Given the description of an element on the screen output the (x, y) to click on. 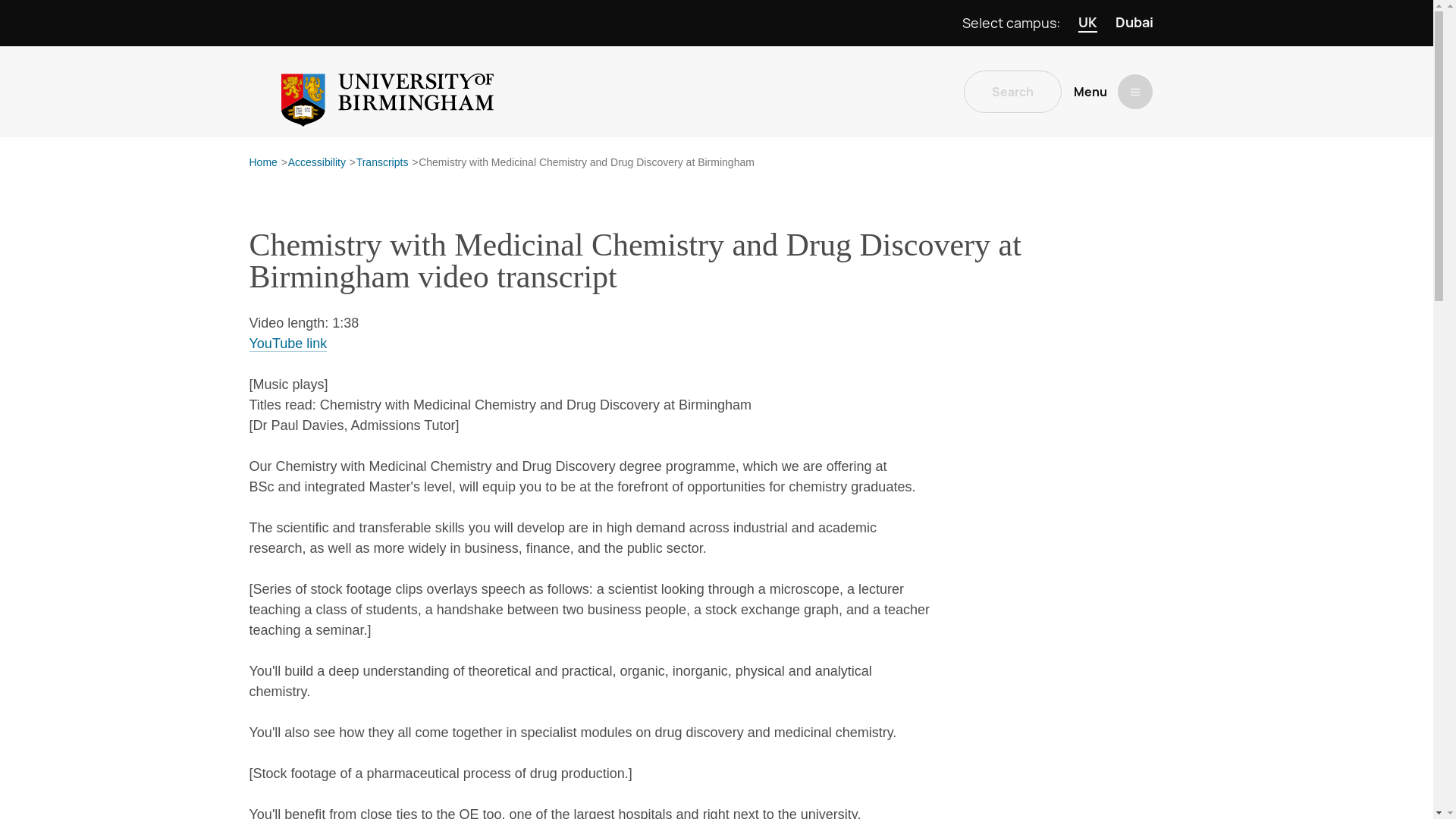
YouTube link (287, 343)
UK (1087, 23)
Transcripts (382, 163)
Home (262, 163)
Accessibility (317, 163)
Dubai (1134, 23)
Search (1012, 91)
